Given the description of an element on the screen output the (x, y) to click on. 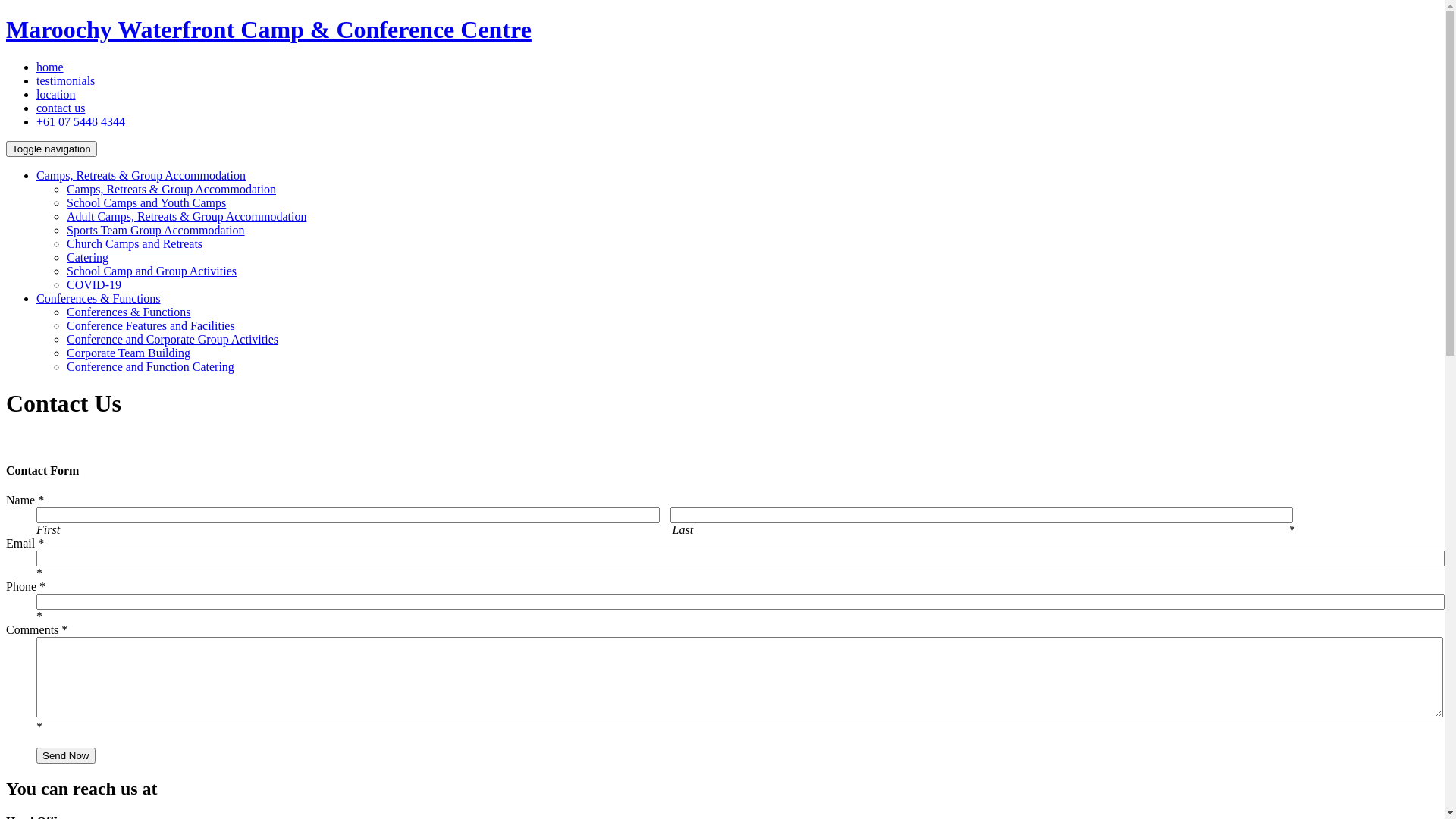
Toggle navigation Element type: text (51, 148)
Conference and Corporate Group Activities Element type: text (172, 338)
Comments Element type: hover (739, 677)
Conferences & Functions Element type: text (98, 297)
Last Name Element type: hover (981, 515)
COVID-19 Element type: text (93, 284)
Sports Team Group Accommodation Element type: text (155, 229)
School Camp and Group Activities Element type: text (151, 270)
contact us Element type: text (60, 107)
Send Now Element type: text (65, 755)
location Element type: text (55, 93)
School Camps and Youth Camps Element type: text (145, 202)
Conference Features and Facilities Element type: text (150, 325)
Camps, Retreats & Group Accommodation Element type: text (171, 188)
Camps, Retreats & Group Accommodation Element type: text (140, 175)
Email Element type: hover (740, 558)
Adult Camps, Retreats & Group Accommodation Element type: text (186, 216)
Catering Element type: text (87, 257)
Phone Element type: hover (740, 601)
Corporate Team Building Element type: text (128, 352)
testimonials Element type: text (65, 80)
Conference and Function Catering Element type: text (150, 366)
Maroochy Waterfront Camp & Conference Centre Element type: text (268, 29)
First Name Element type: hover (347, 515)
home Element type: text (49, 66)
Conferences & Functions Element type: text (128, 311)
+61 07 5448 4344 Element type: text (80, 121)
Church Camps and Retreats Element type: text (134, 243)
